Given the description of an element on the screen output the (x, y) to click on. 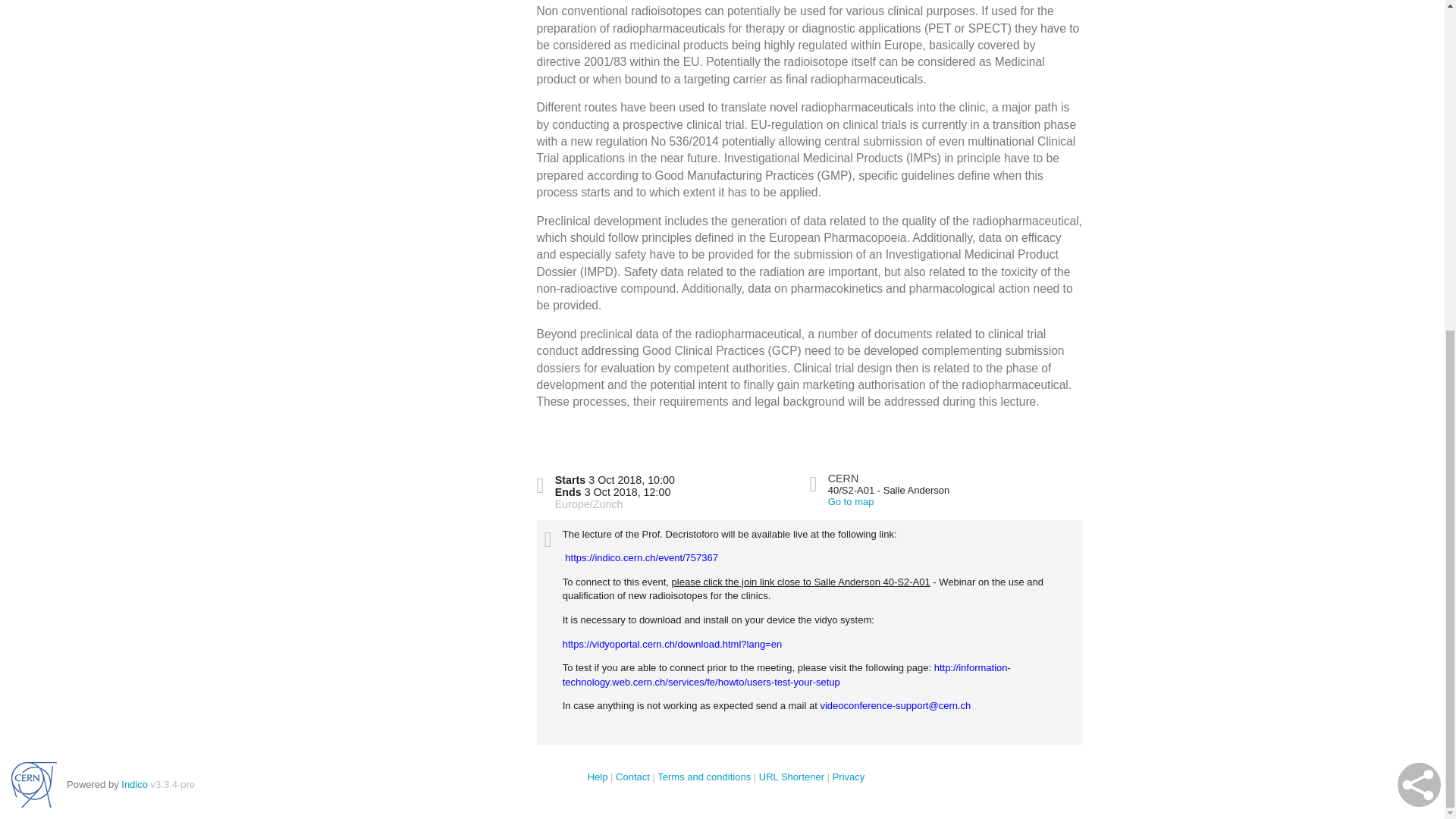
Go to map (851, 501)
